Given the description of an element on the screen output the (x, y) to click on. 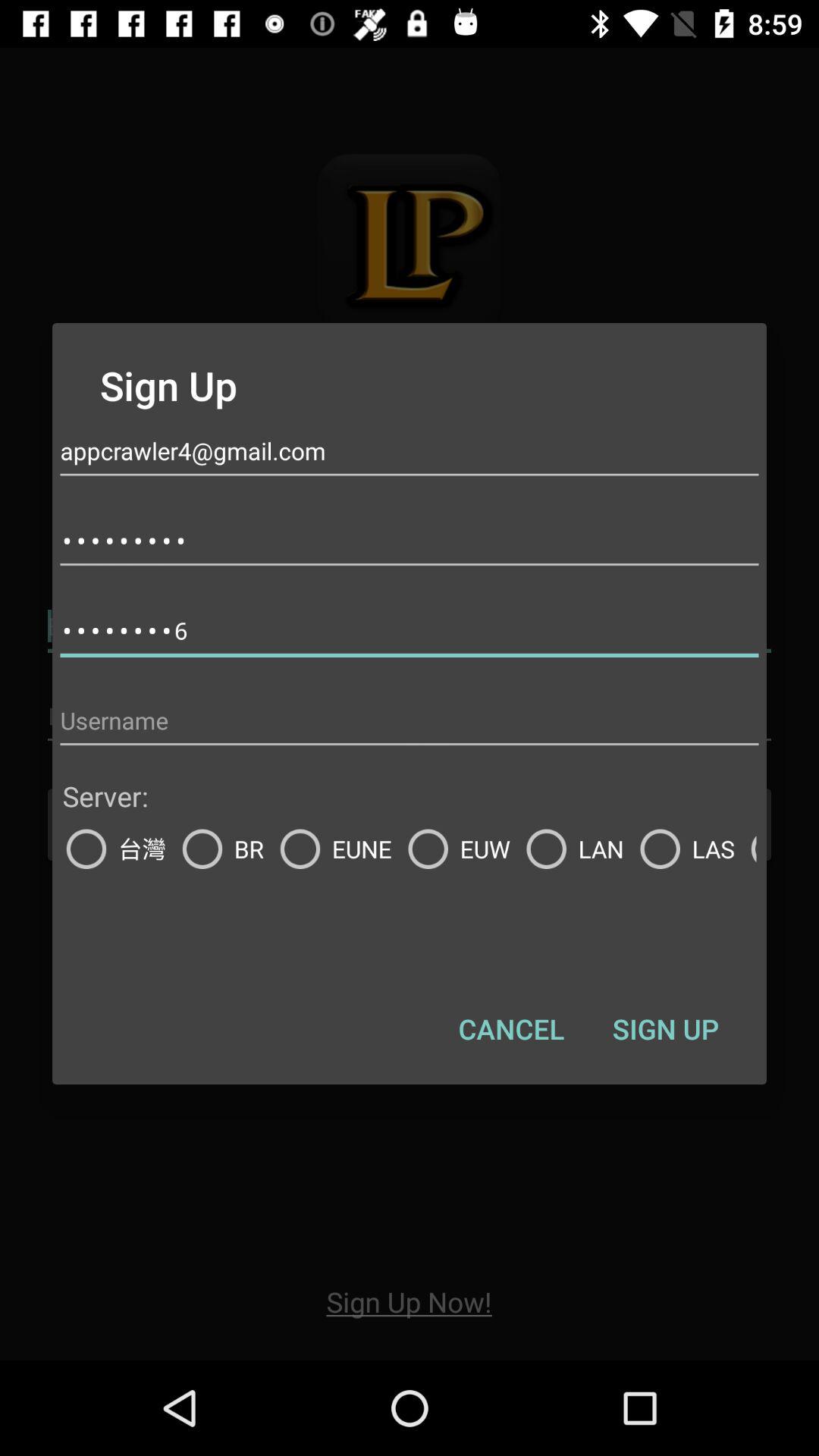
enter username (409, 720)
